Given the description of an element on the screen output the (x, y) to click on. 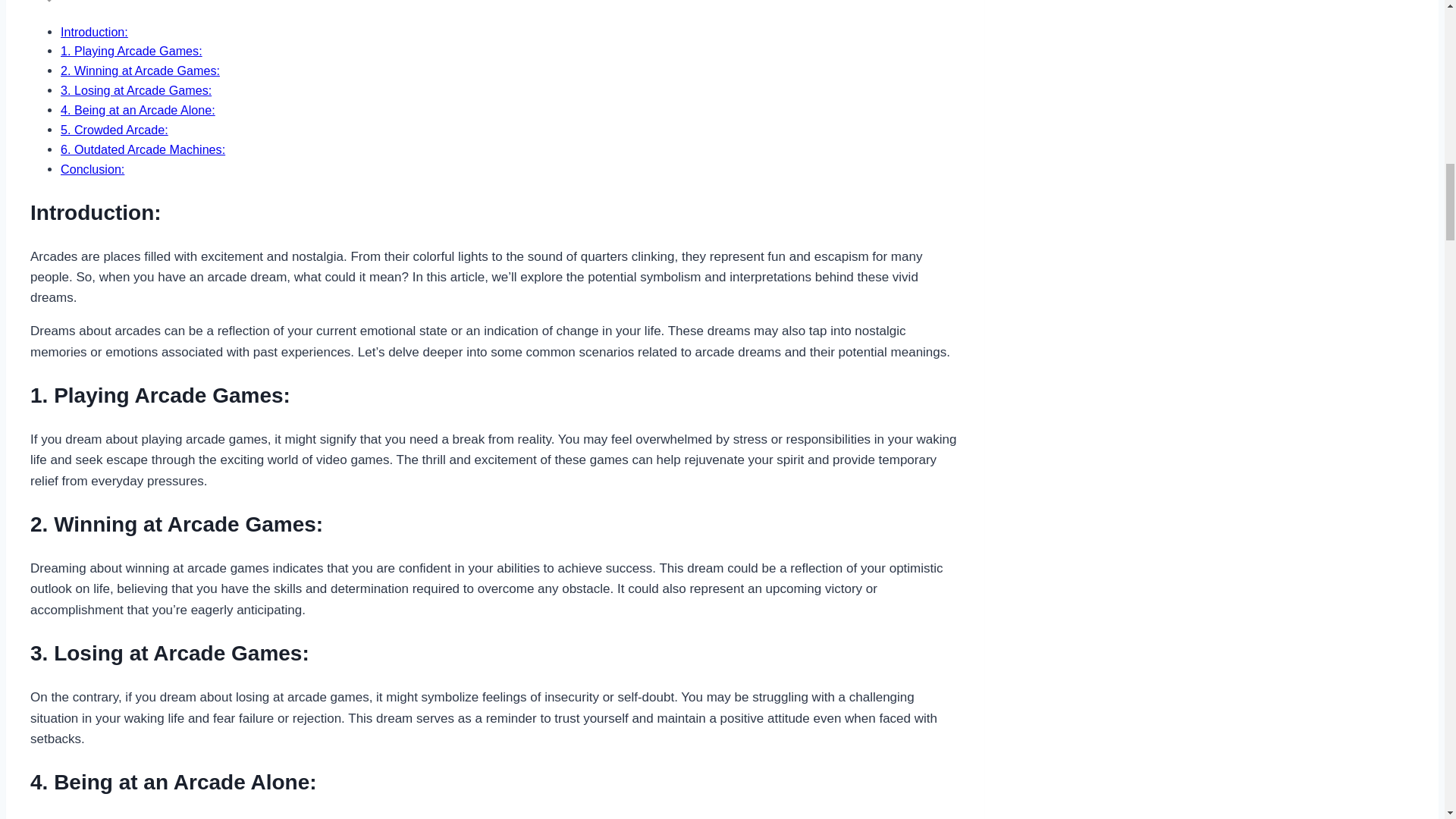
3. Losing at Arcade Games: (136, 90)
2. Winning at Arcade Games: (140, 69)
6. Outdated Arcade Machines: (143, 149)
1. Playing Arcade Games: (131, 50)
2. Winning at Arcade Games: (140, 69)
Introduction: (94, 31)
Conclusion: (92, 169)
4. Being at an Arcade Alone: (138, 110)
Introduction: (94, 31)
3. Losing at Arcade Games: (136, 90)
Conclusion: (92, 169)
5. Crowded Arcade: (114, 129)
6. Outdated Arcade Machines: (143, 149)
5. Crowded Arcade: (114, 129)
4. Being at an Arcade Alone: (138, 110)
